Given the description of an element on the screen output the (x, y) to click on. 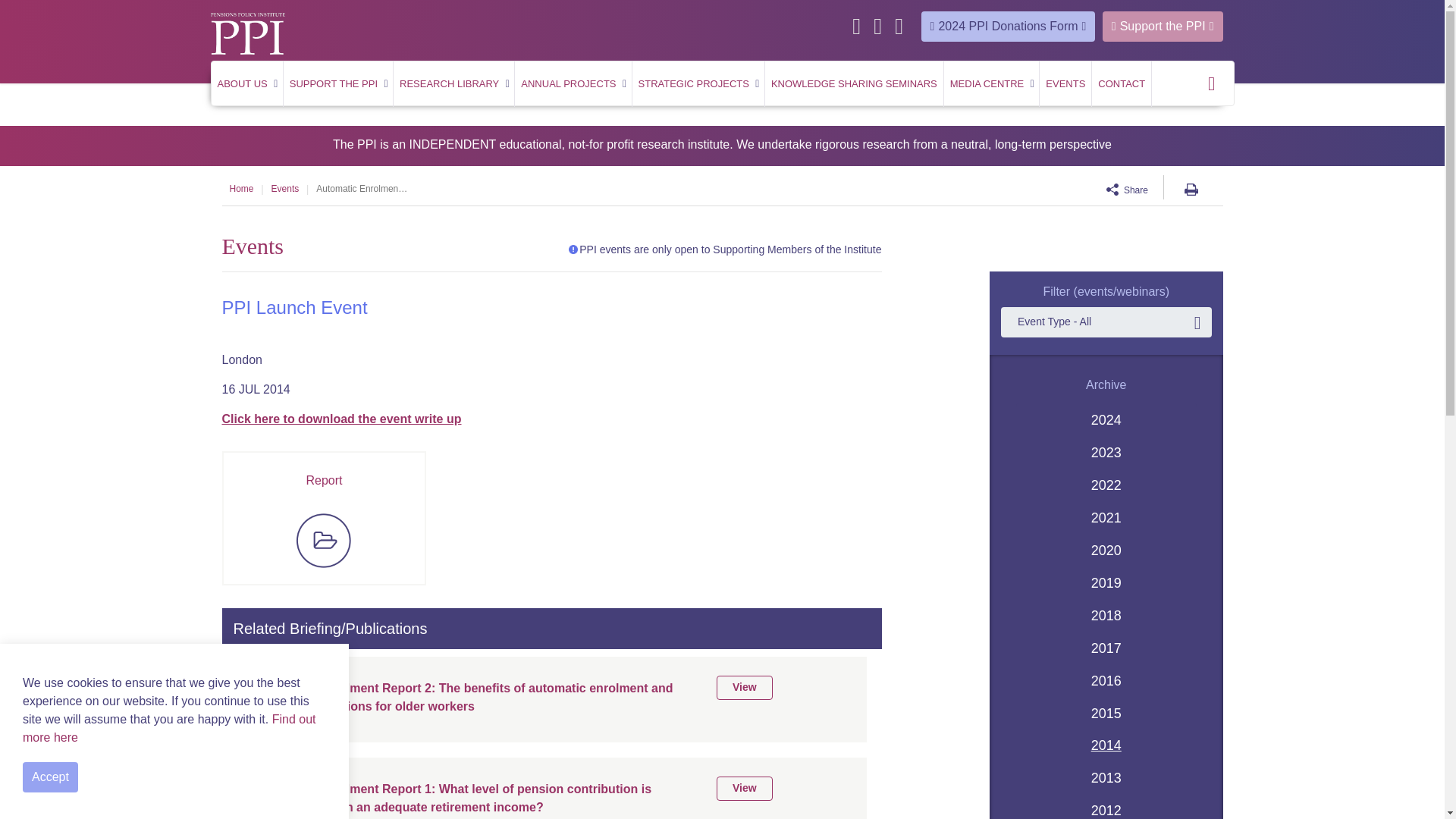
RESEARCH LIBRARY (454, 84)
Cookies (169, 727)
SUPPORT THE PPI (338, 84)
ABOUT US (246, 84)
ANNUAL PROJECTS (573, 84)
Pensions Policy Institute (248, 33)
